Given the description of an element on the screen output the (x, y) to click on. 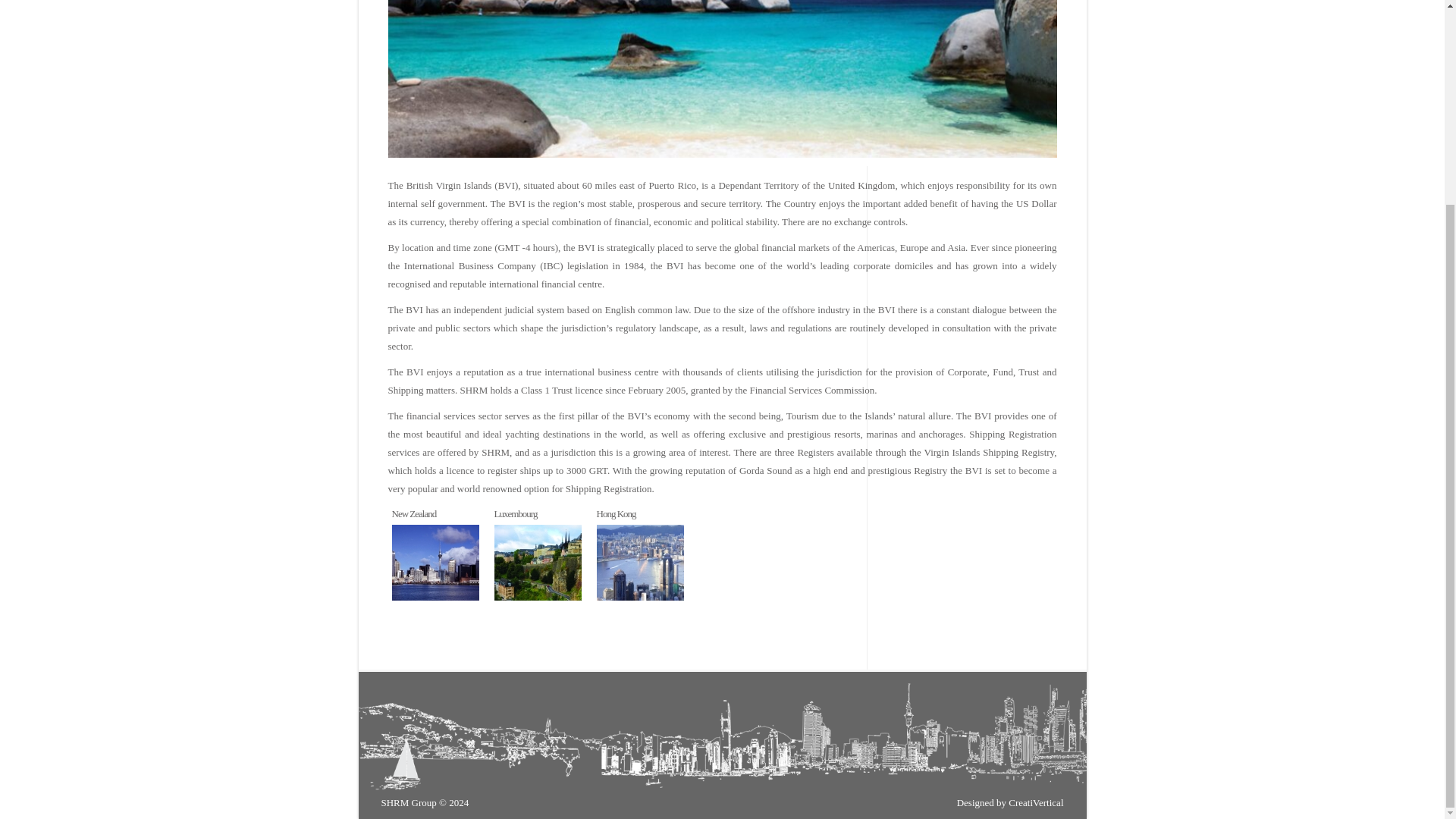
Luxembourg (516, 513)
Hong Kong (638, 564)
British Virgin Islands (638, 562)
British Virgin Islands (435, 562)
New Zealand (413, 513)
British Virgin Islands (537, 562)
New Zealand (435, 564)
CreatiVertical (1035, 802)
Luxembourg (516, 513)
Hong Kong (614, 513)
